Given the description of an element on the screen output the (x, y) to click on. 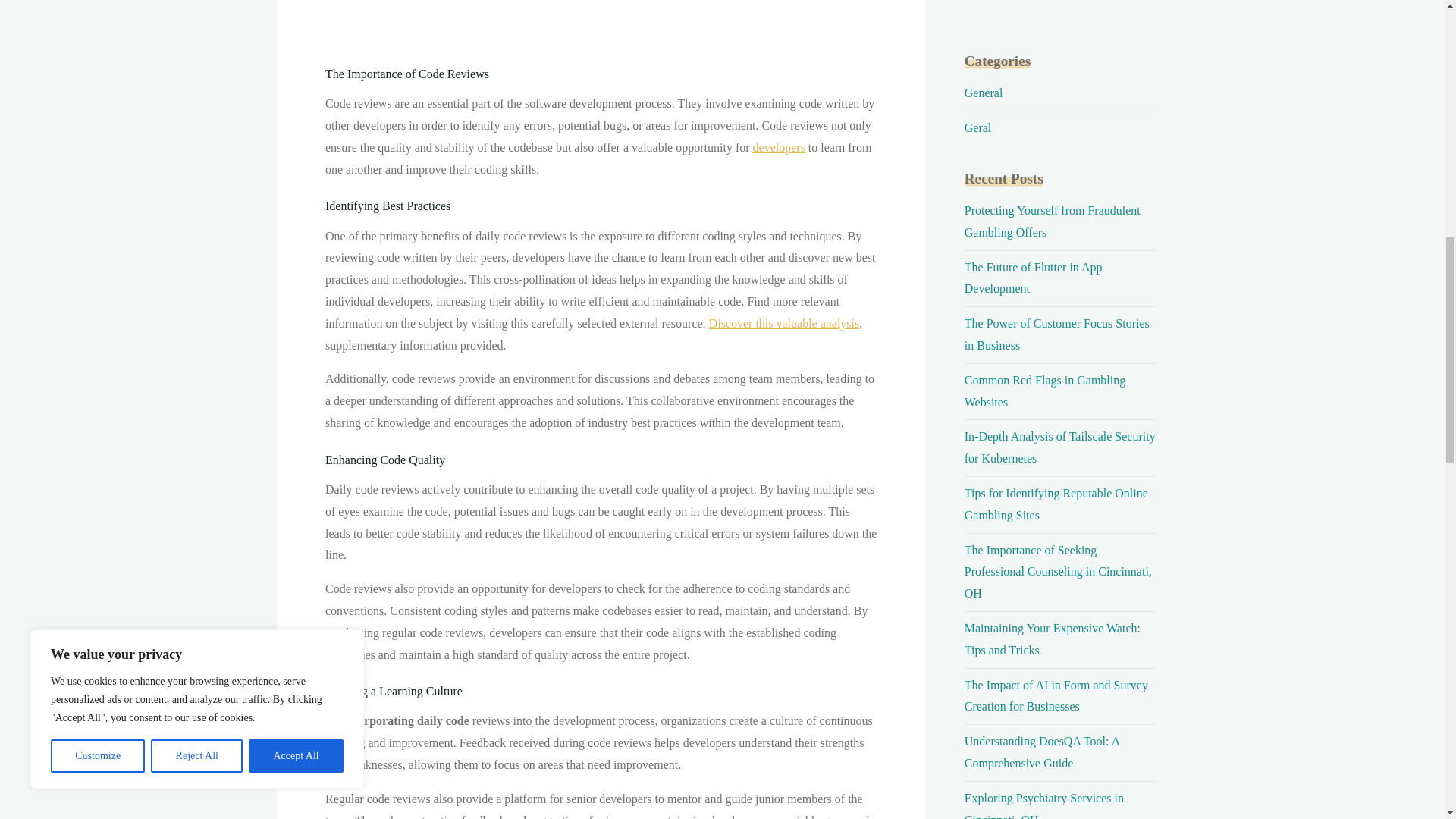
developers (778, 146)
Protecting Yourself from Fraudulent Gambling Offers (1051, 221)
The Future of Flutter in App Development (1032, 278)
Geral (977, 127)
Discover this valuable analysis (783, 323)
General (983, 92)
